Given the description of an element on the screen output the (x, y) to click on. 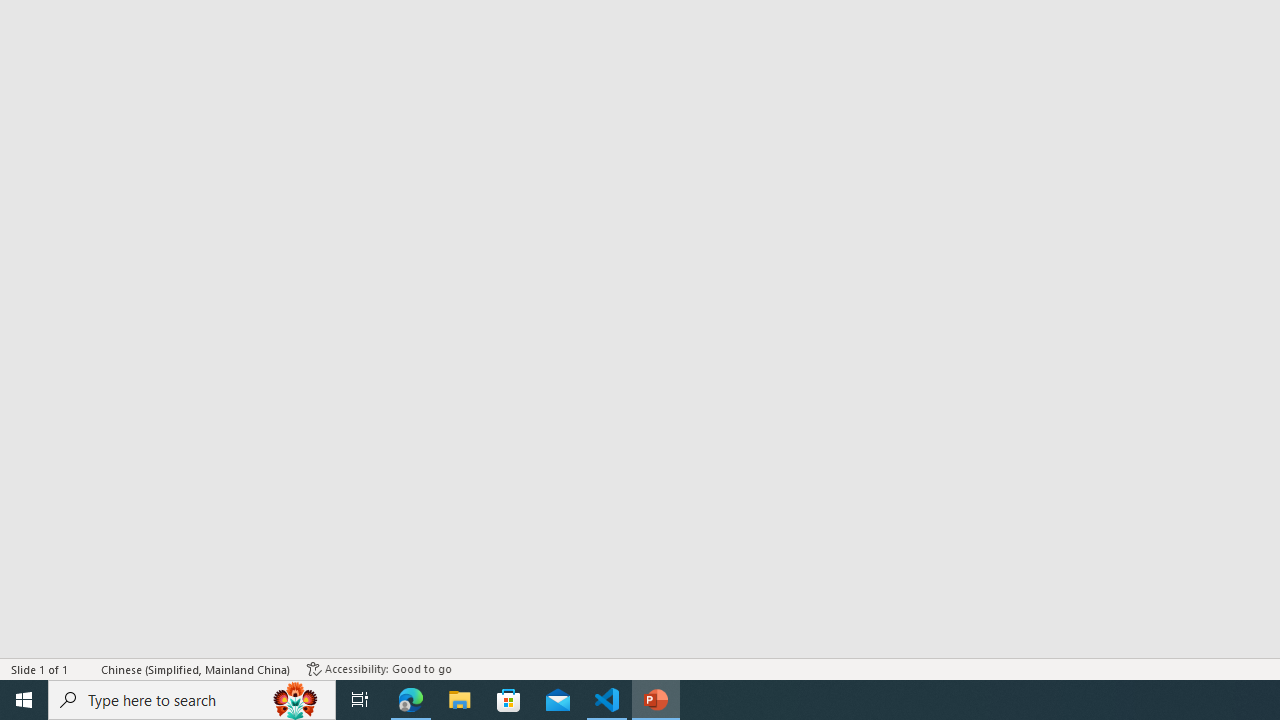
Spell Check  (86, 668)
